Given the description of an element on the screen output the (x, y) to click on. 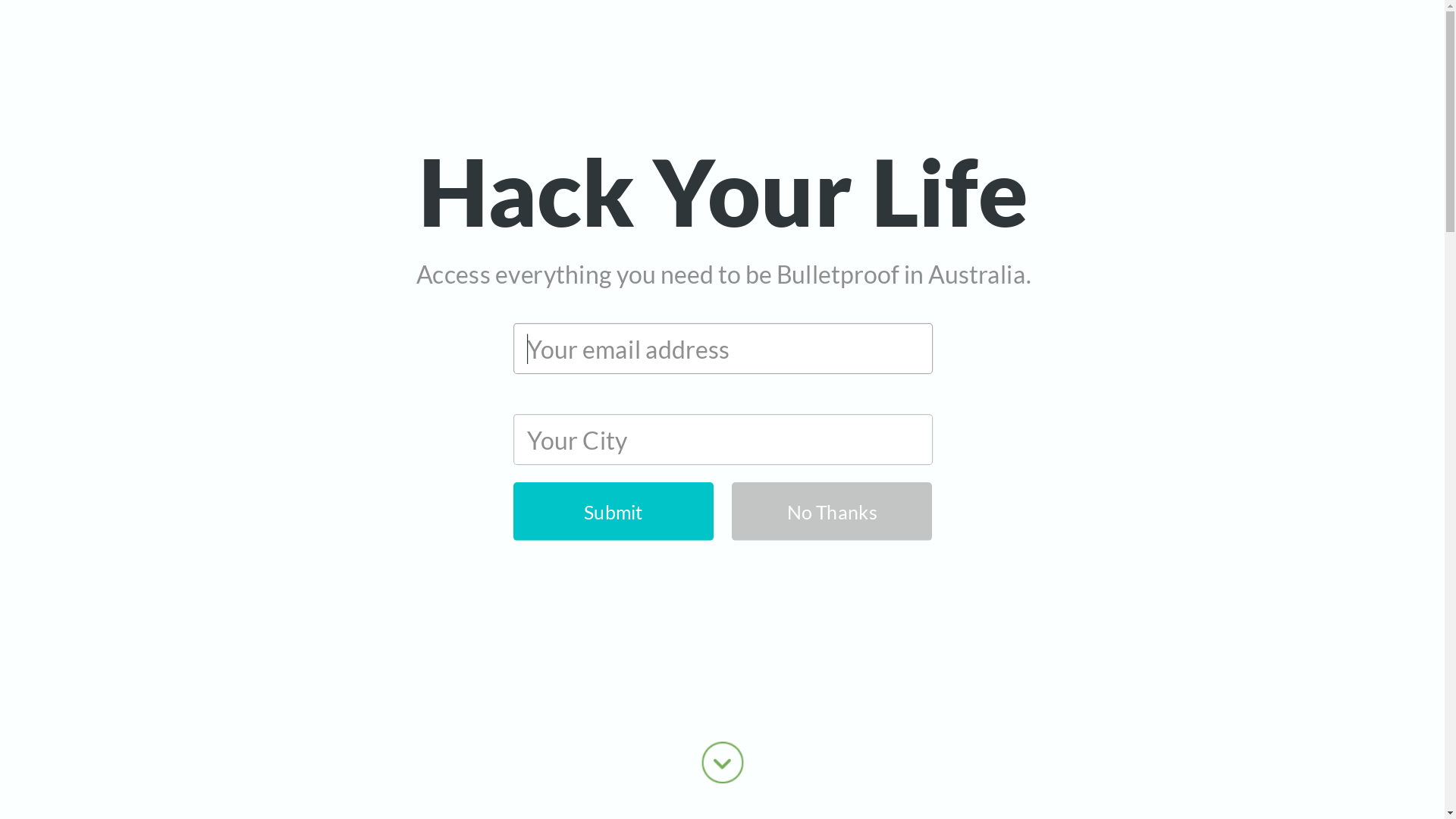
Pinterest Element type: hover (18, 428)
Facebook Element type: hover (18, 314)
LinkedIn Element type: hover (18, 466)
No Thanks Element type: text (814, 506)
SumoMe Element type: hover (18, 542)
Submit Element type: text (595, 506)
Twitter Element type: hover (18, 352)
Google+ Element type: hover (18, 390)
Email Element type: hover (18, 504)
